Given the description of an element on the screen output the (x, y) to click on. 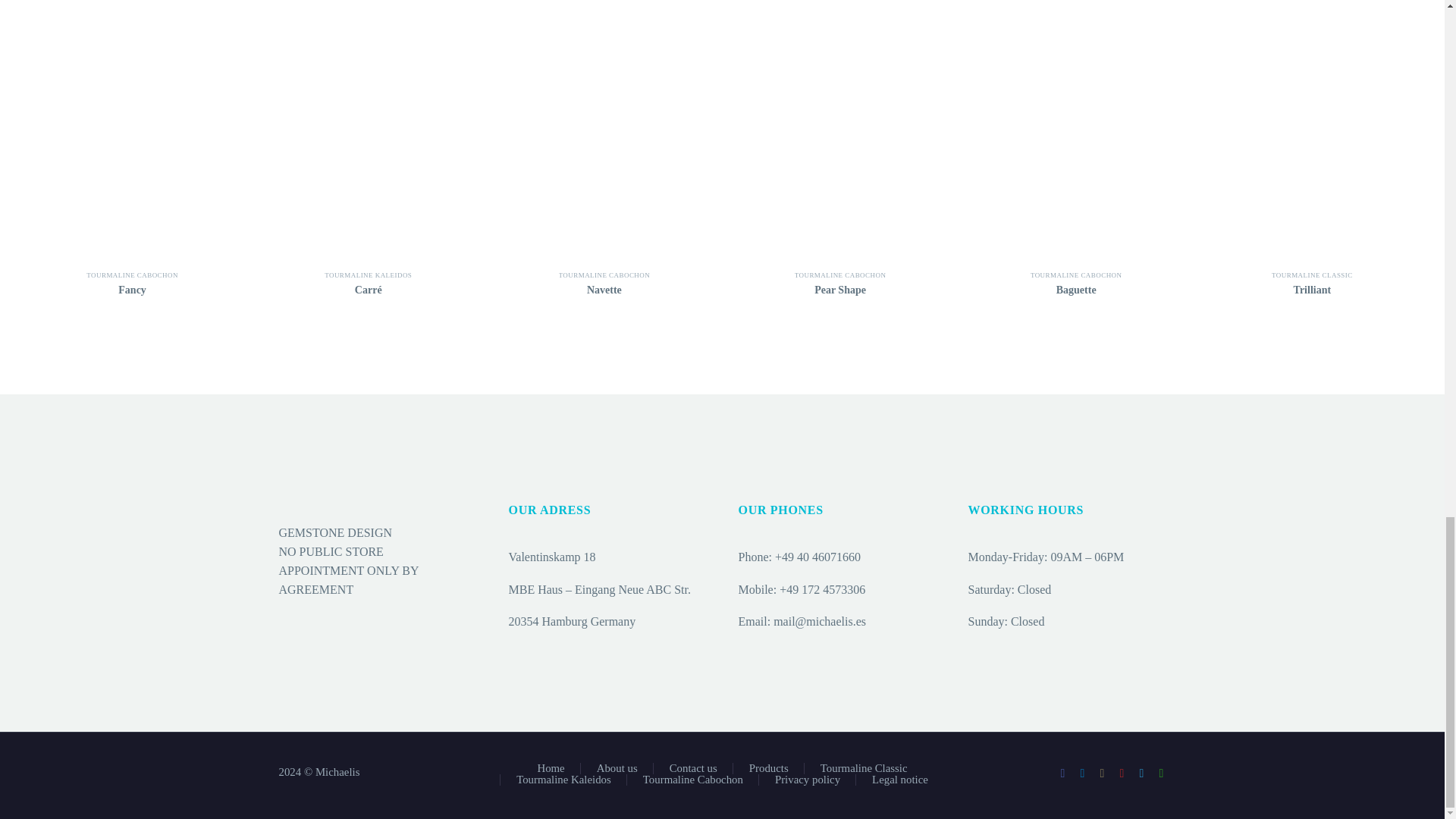
TOURMALINE KALEIDOS (368, 275)
Instagram (1102, 773)
Fancy (132, 130)
LinkedIn (1083, 773)
Facebook (1062, 773)
Fancy (132, 289)
TOURMALINE CABOCHON (131, 275)
Telegram (1141, 773)
YouTube (1122, 773)
WhatsApp (1161, 773)
